Given the description of an element on the screen output the (x, y) to click on. 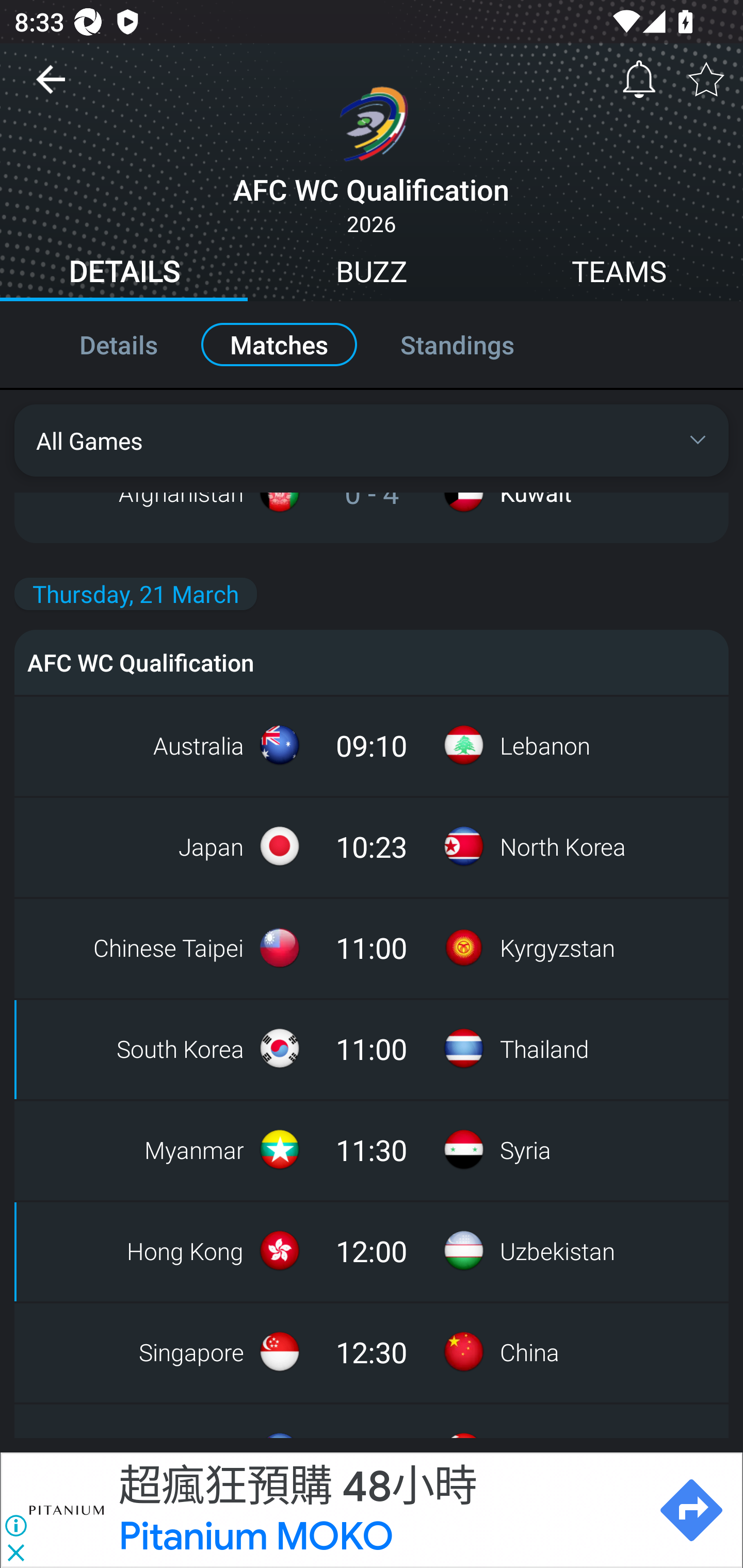
Navigate up (50, 86)
DETAILS (123, 274)
BUZZ (371, 274)
TEAMS (619, 274)
Details (96, 344)
Standings (478, 344)
All Games (371, 440)
AFC WC Qualification (371, 662)
Australia 09:10 Lebanon (371, 745)
Japan 10:23 North Korea (371, 846)
Chinese Taipei 11:00 Kyrgyzstan (371, 947)
South Korea 11:00 Thailand (371, 1048)
Myanmar 11:30 Syria (371, 1149)
Hong Kong 12:00 Uzbekistan (371, 1250)
Singapore 12:30 China (371, 1351)
Nepal 13:15 Bahrain (371, 1419)
超瘋狂預購 48小時 Pitanium MOKO 超瘋狂預購 48小時 Pitanium MOKO (379, 1509)
